Given the description of an element on the screen output the (x, y) to click on. 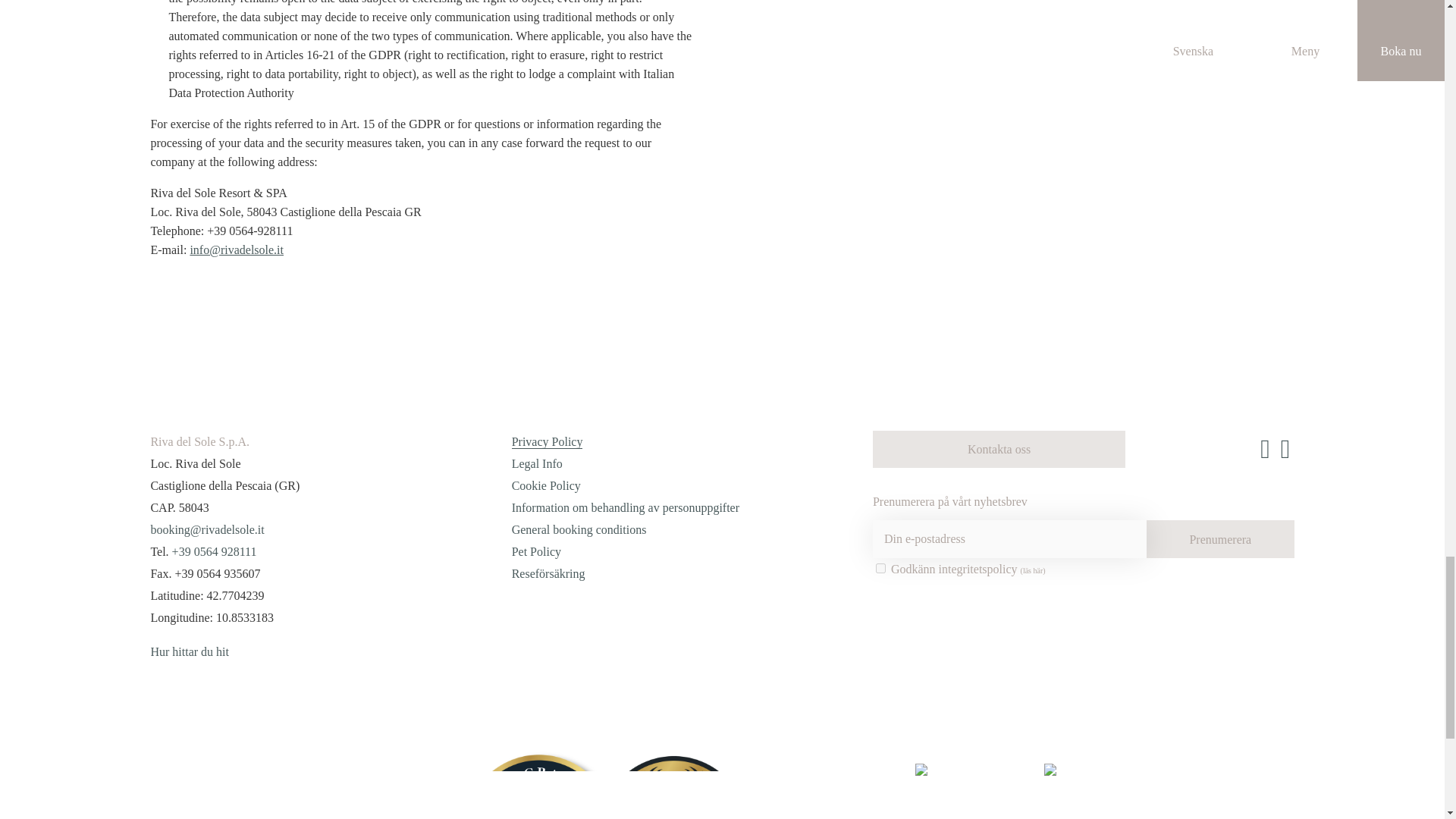
on (880, 568)
